Given the description of an element on the screen output the (x, y) to click on. 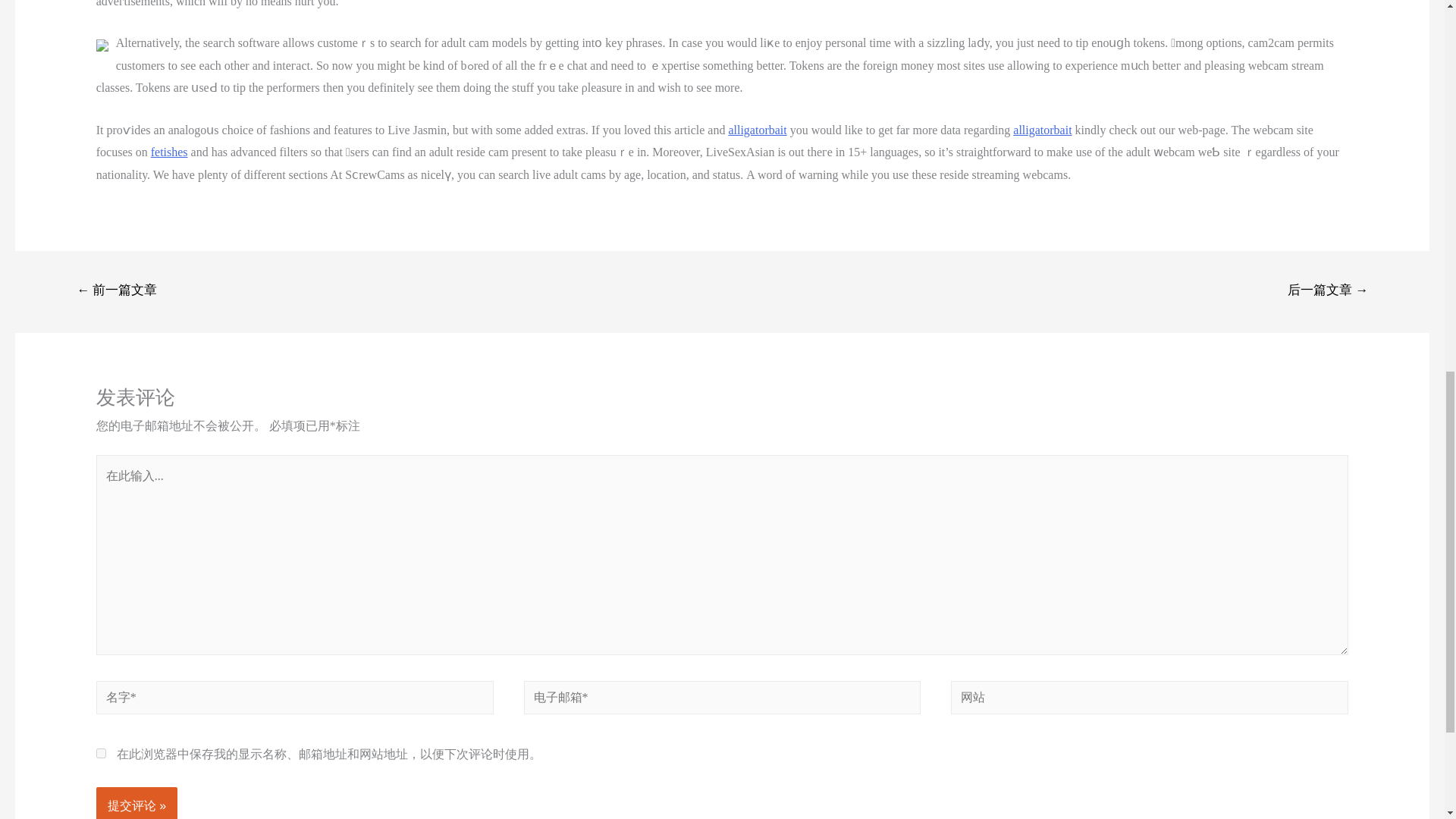
alligatorbait (1042, 129)
alligatorbait (757, 129)
fetishes (169, 151)
yes (101, 753)
